Given the description of an element on the screen output the (x, y) to click on. 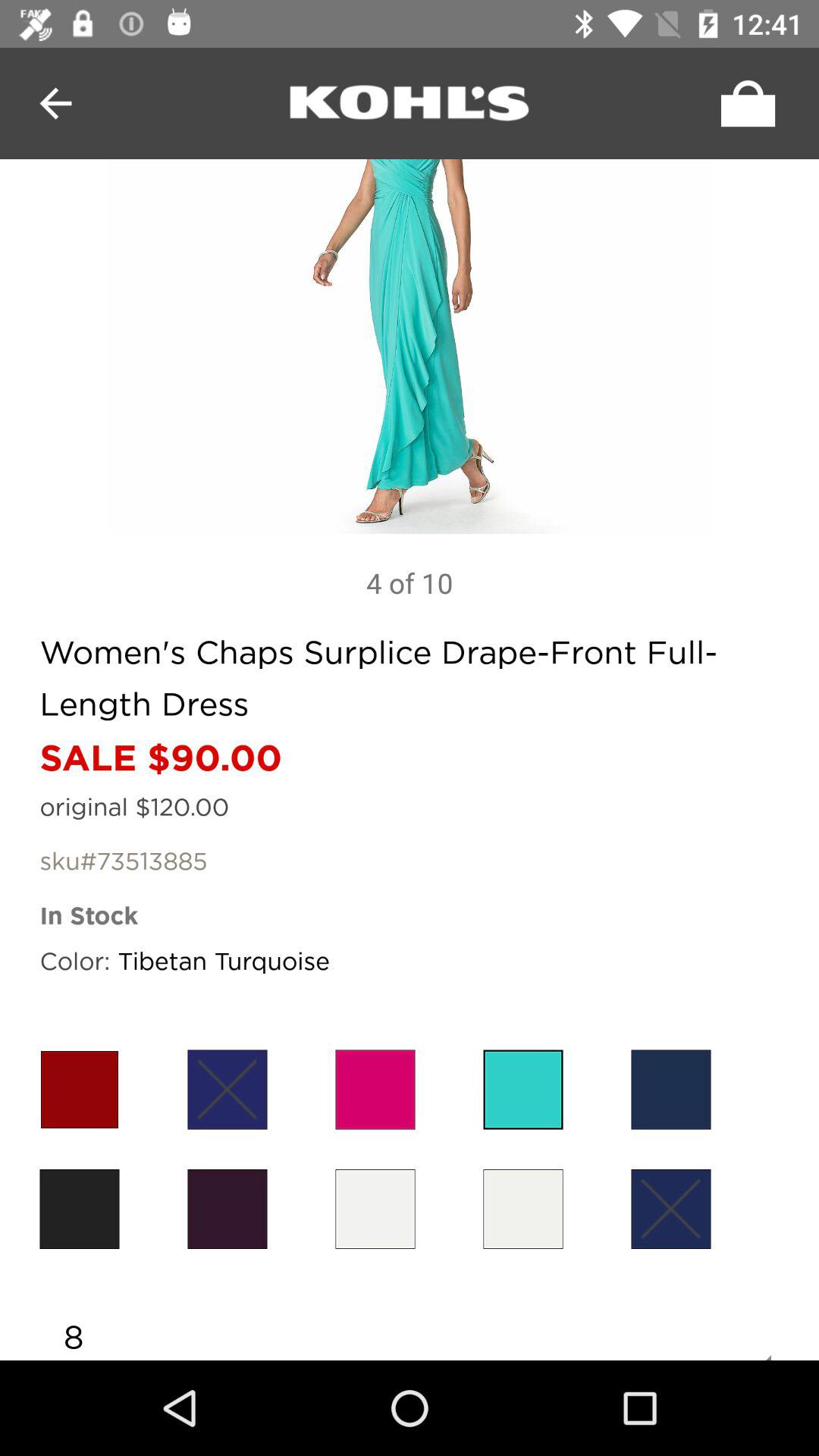
select color (523, 1208)
